Given the description of an element on the screen output the (x, y) to click on. 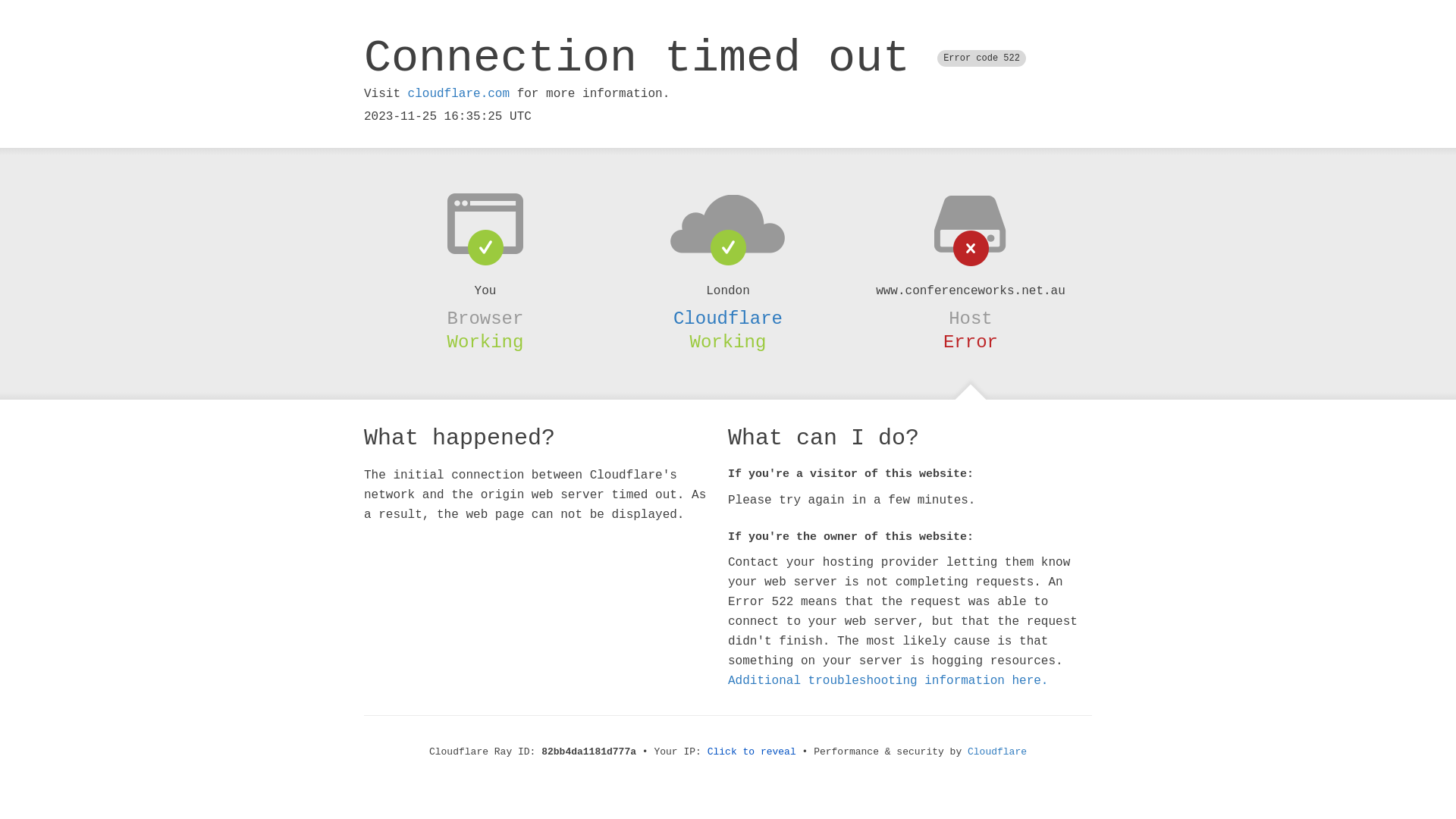
Cloudflare Element type: text (727, 318)
cloudflare.com Element type: text (458, 93)
Cloudflare Element type: text (996, 751)
Additional troubleshooting information here. Element type: text (888, 680)
Click to reveal Element type: text (751, 751)
